Given the description of an element on the screen output the (x, y) to click on. 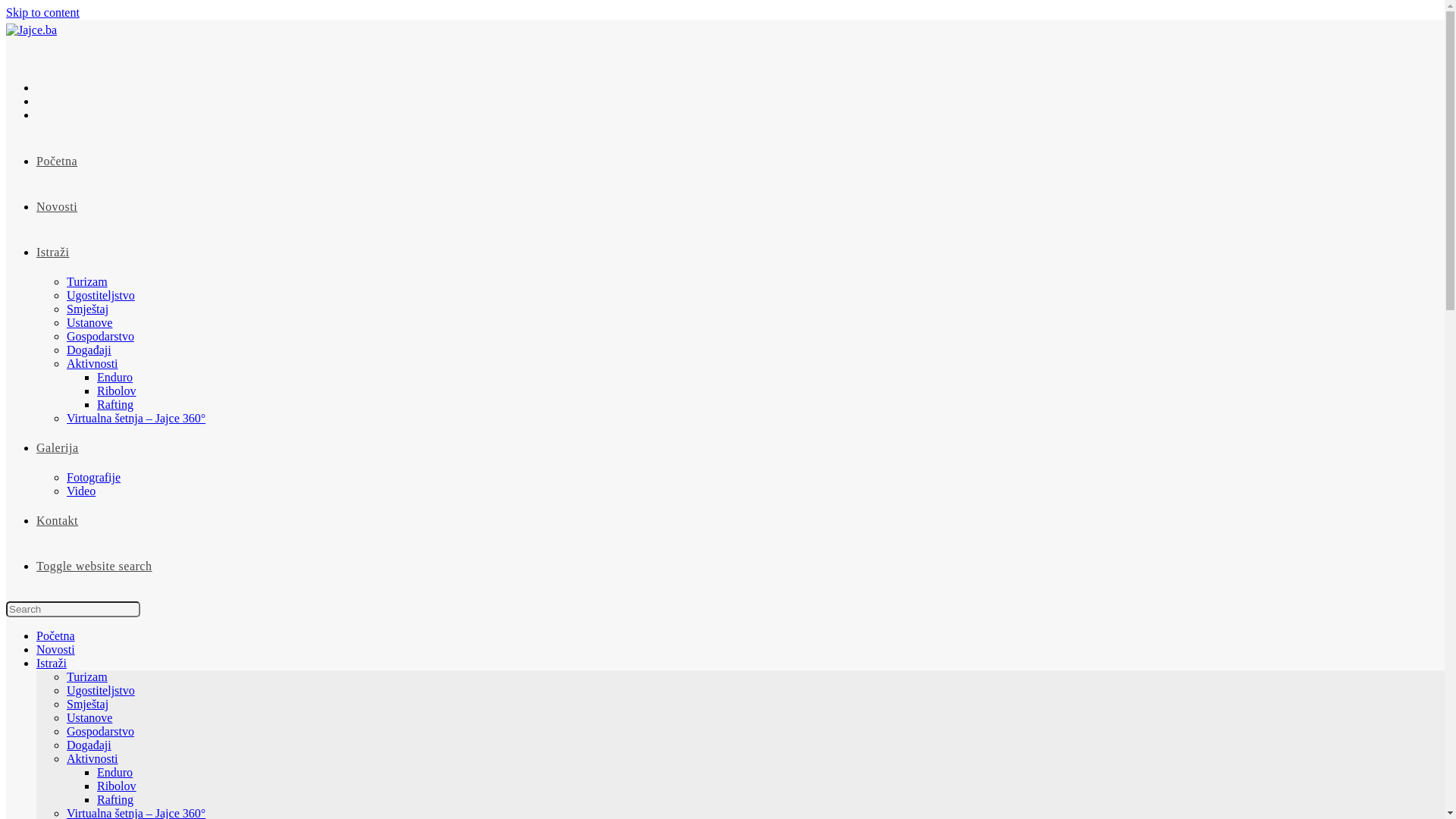
Ribolov Element type: text (116, 785)
Ugostiteljstvo Element type: text (100, 690)
Video Element type: text (80, 490)
Kontakt Element type: text (57, 520)
Enduro Element type: text (114, 771)
Skip to content Element type: text (42, 12)
Turizam Element type: text (86, 281)
Galerija Element type: text (57, 447)
Rafting Element type: text (115, 404)
Ribolov Element type: text (116, 390)
Gospodarstvo Element type: text (100, 335)
Novosti Element type: text (56, 206)
Novosti Element type: text (55, 649)
Turizam Element type: text (86, 676)
Toggle website search Element type: text (93, 565)
Aktivnosti Element type: text (92, 363)
Ugostiteljstvo Element type: text (100, 294)
Ustanove Element type: text (89, 322)
Ustanove Element type: text (89, 717)
Gospodarstvo Element type: text (100, 730)
Fotografije Element type: text (93, 476)
Aktivnosti Element type: text (92, 758)
Enduro Element type: text (114, 376)
Rafting Element type: text (115, 799)
